Given the description of an element on the screen output the (x, y) to click on. 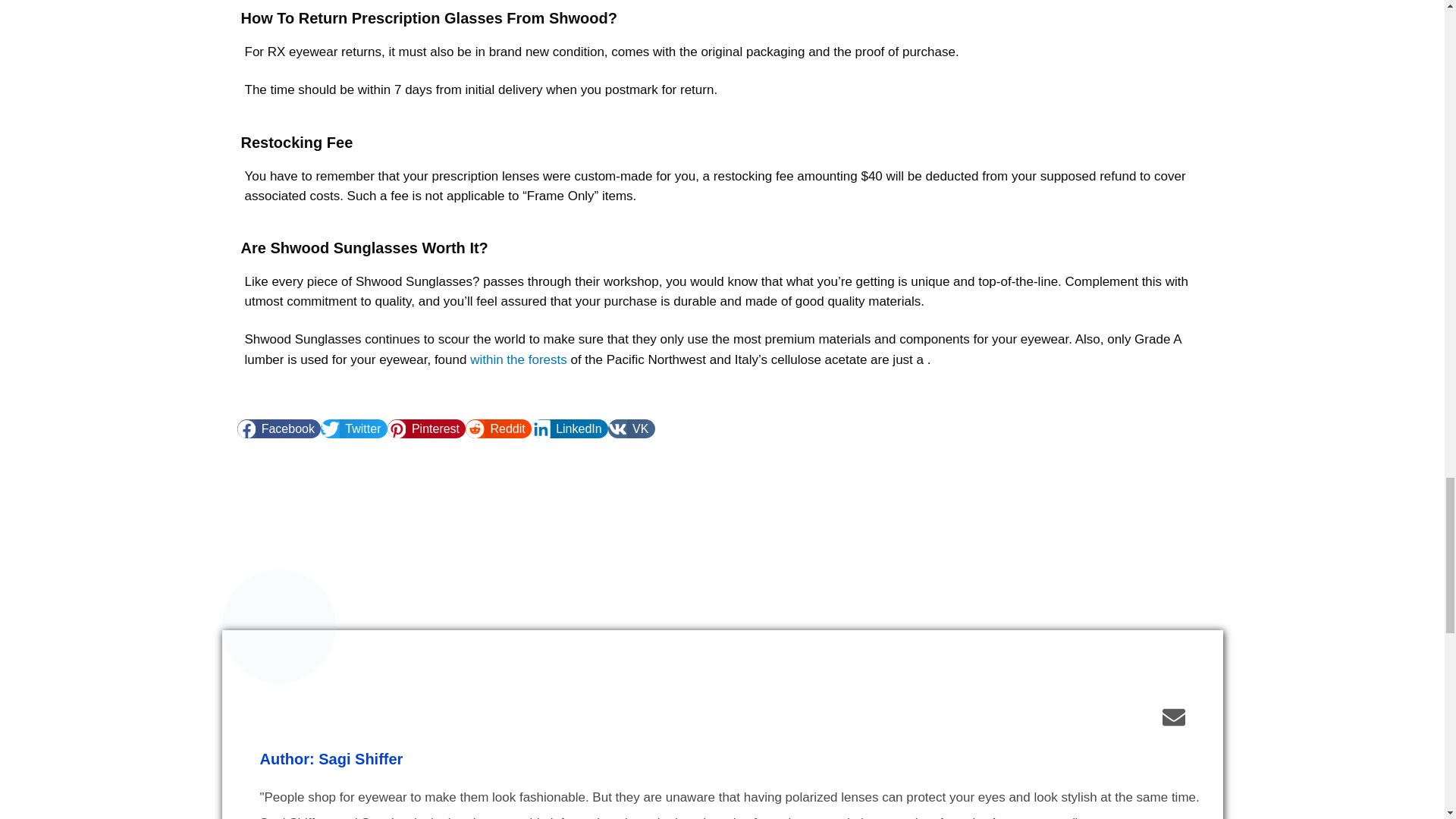
Sagi Shiffer Sunglassky 1 (277, 626)
within the forests (518, 359)
Author: Sagi Shiffer (331, 759)
